Given the description of an element on the screen output the (x, y) to click on. 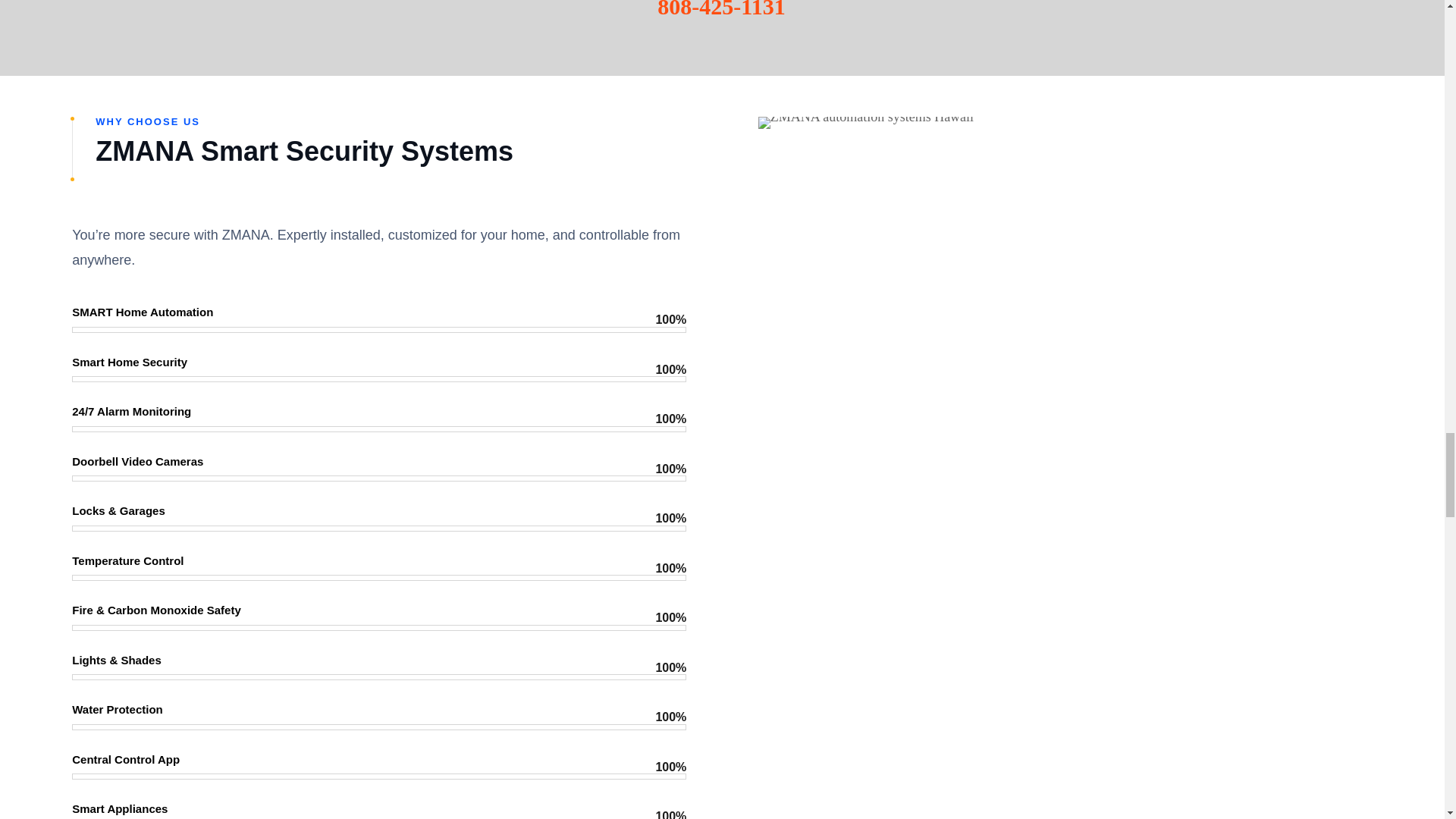
zmana-residential-system (866, 122)
